Given the description of an element on the screen output the (x, y) to click on. 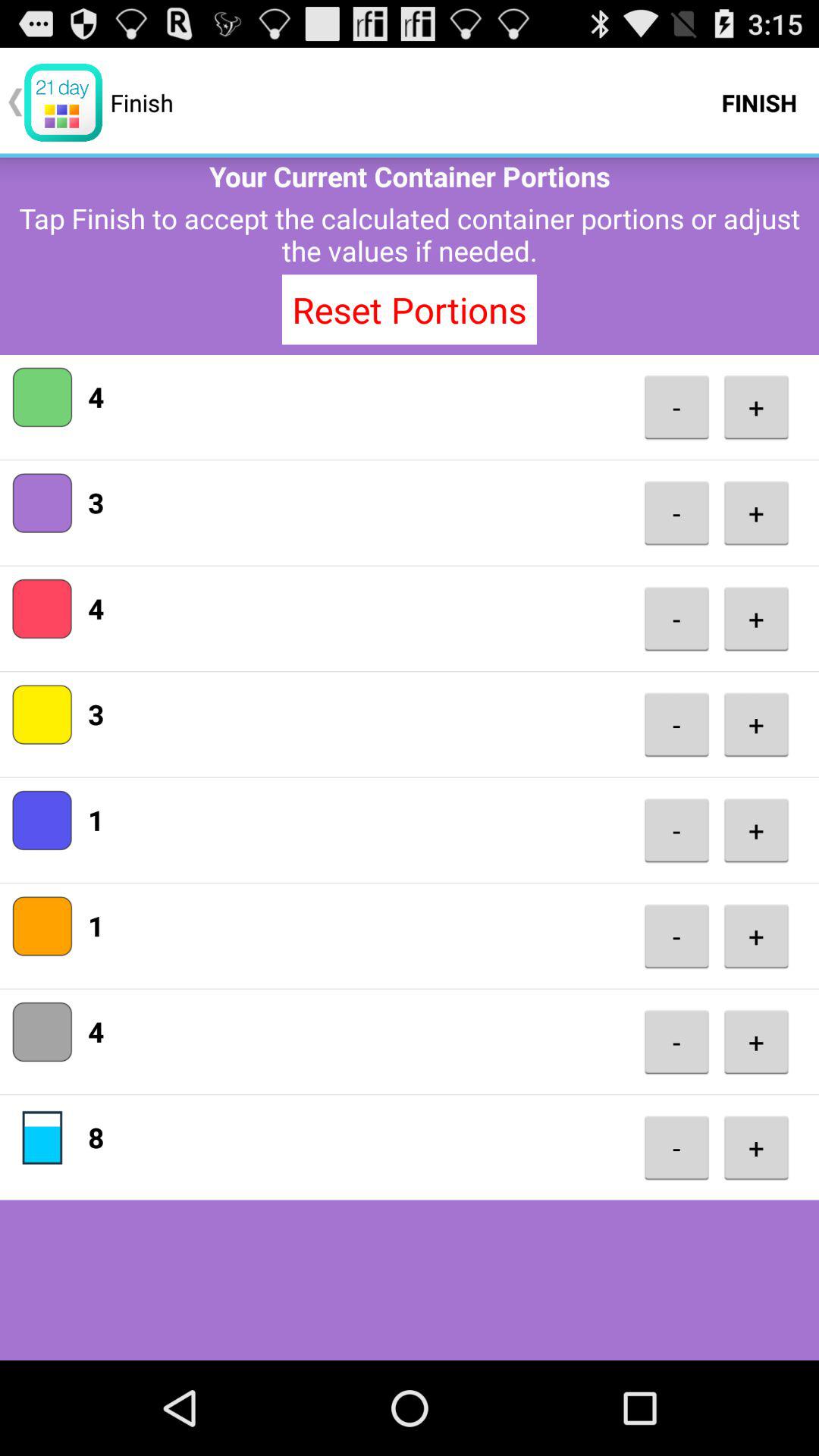
click the button next to + icon (676, 830)
